Given the description of an element on the screen output the (x, y) to click on. 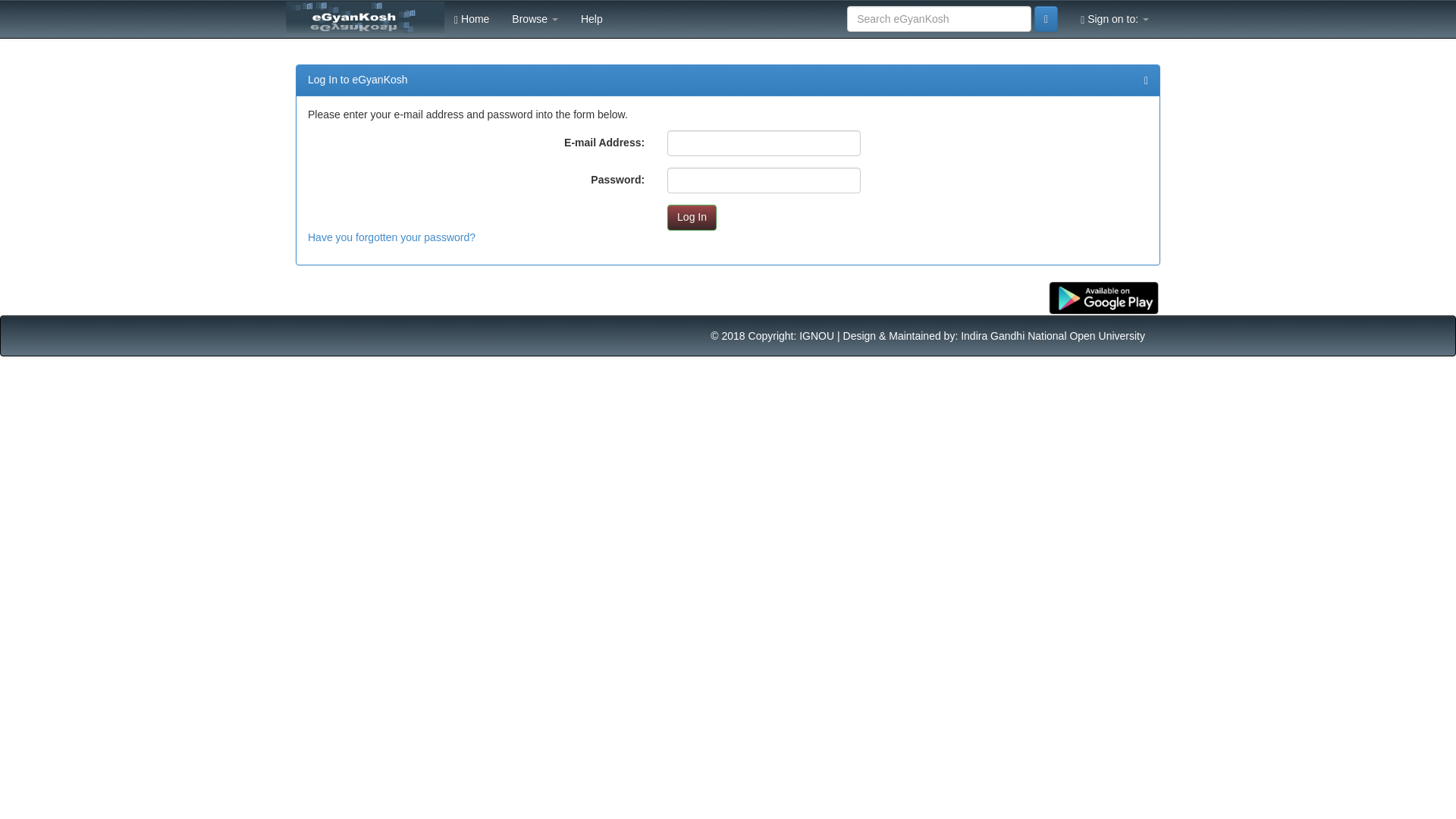
Home (471, 18)
Sign on to: (1114, 18)
Have you forgotten your password? (391, 236)
Log In (691, 217)
Browse (534, 18)
Indira Gandhi National Open University (1052, 336)
Log In (691, 217)
Help (591, 18)
